Given the description of an element on the screen output the (x, y) to click on. 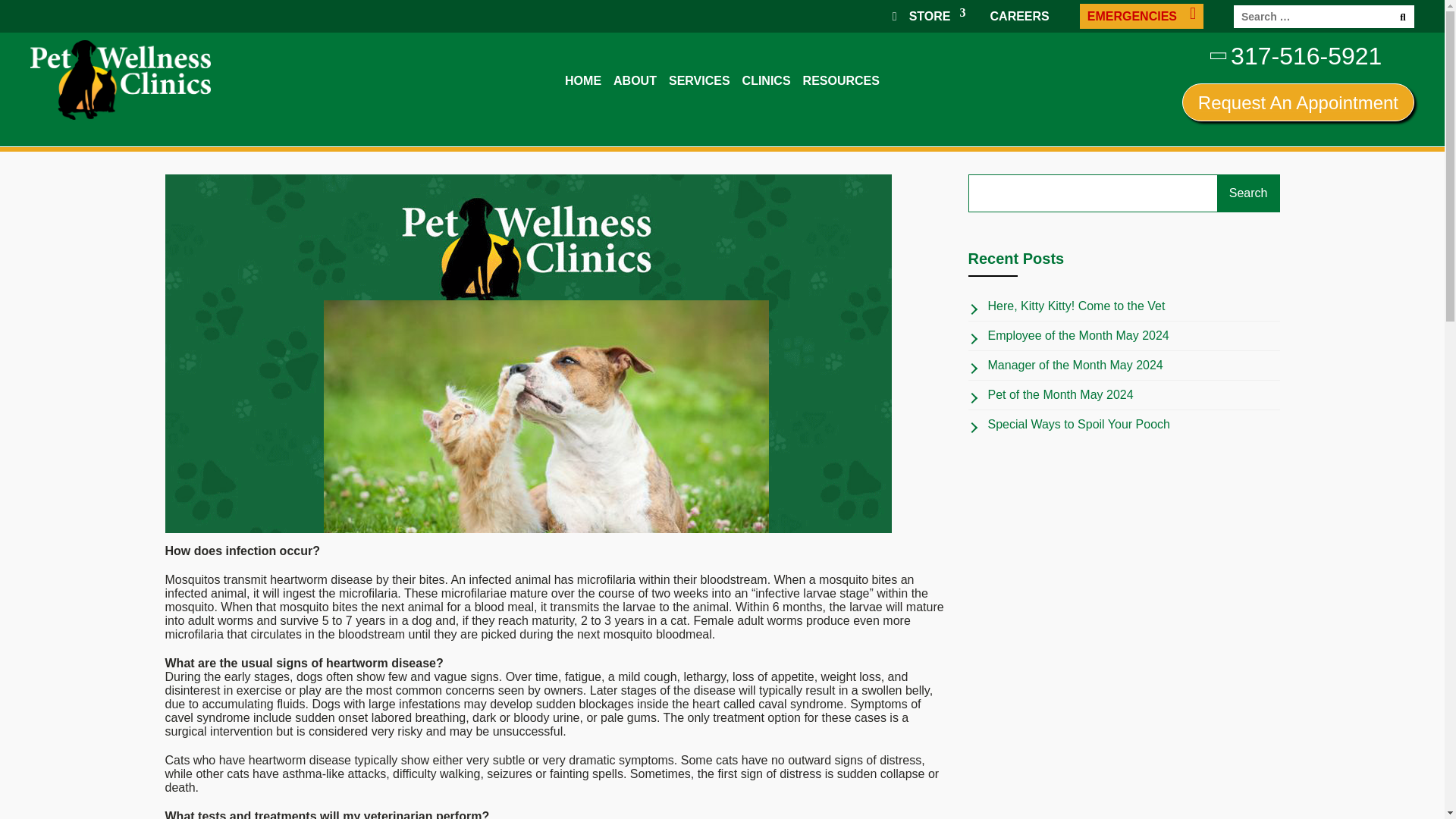
ABOUT (634, 81)
CLINICS (766, 81)
Search for: (1323, 15)
EMERGENCIES (1142, 16)
SERVICES (699, 81)
HOME (582, 81)
STORE (925, 16)
Search (1248, 193)
CAREERS (1015, 16)
Request An Appointment (1297, 102)
